Given the description of an element on the screen output the (x, y) to click on. 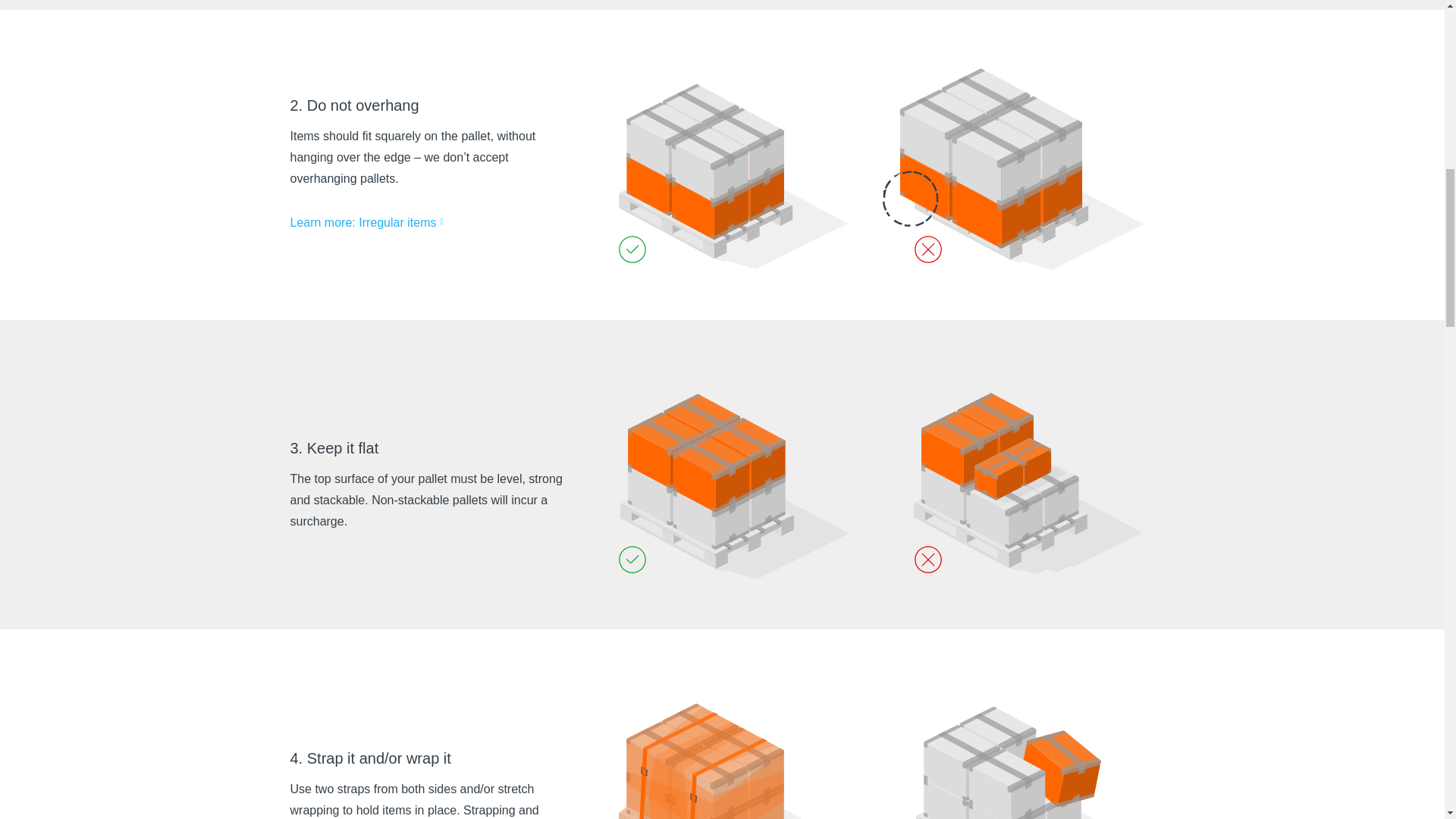
Learn more: Irregular items (371, 222)
